Given the description of an element on the screen output the (x, y) to click on. 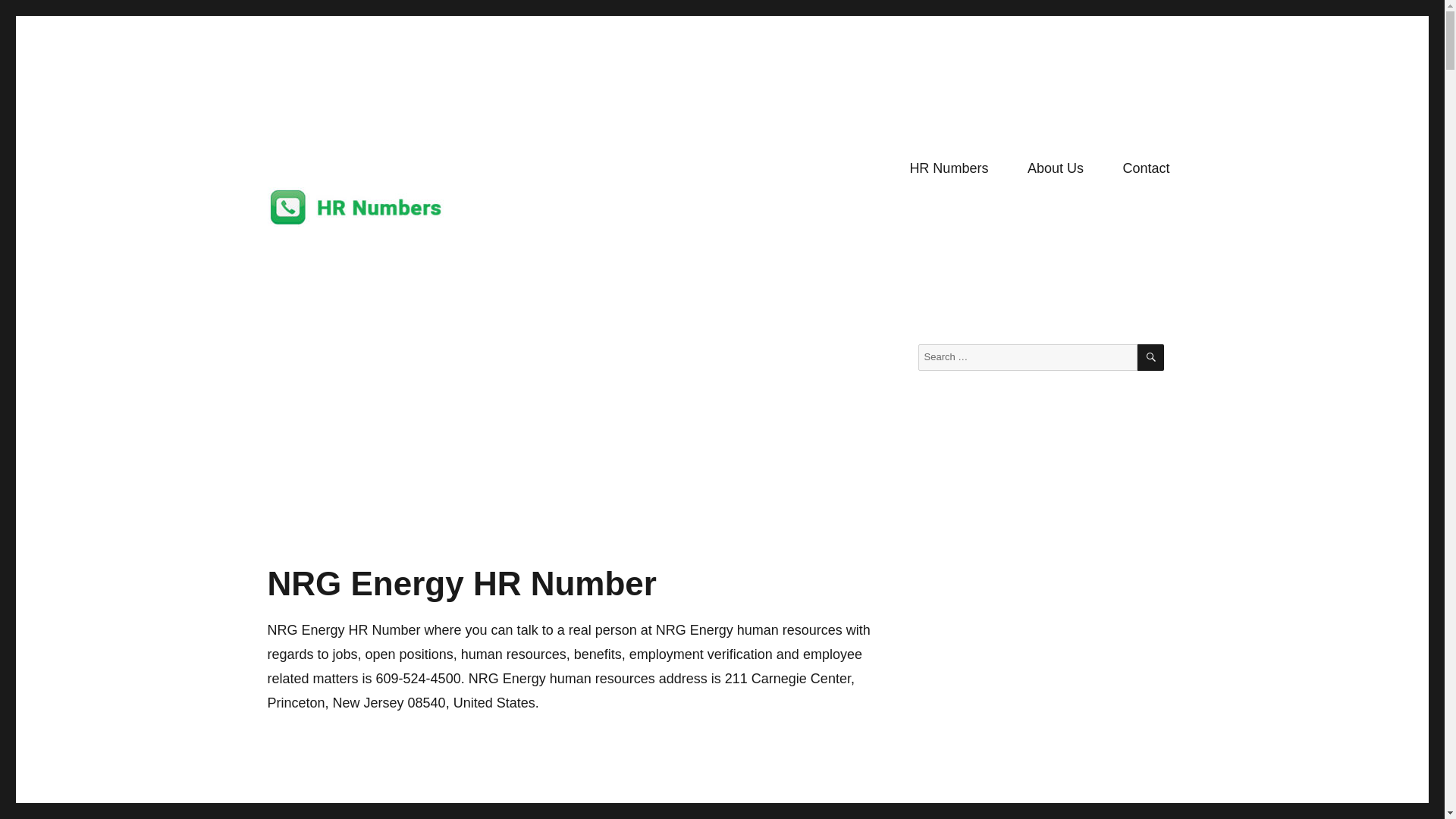
About Us (1055, 168)
Contact (1146, 168)
HR Numbers (331, 250)
SEARCH (1150, 357)
HR Numbers (949, 168)
